Given the description of an element on the screen output the (x, y) to click on. 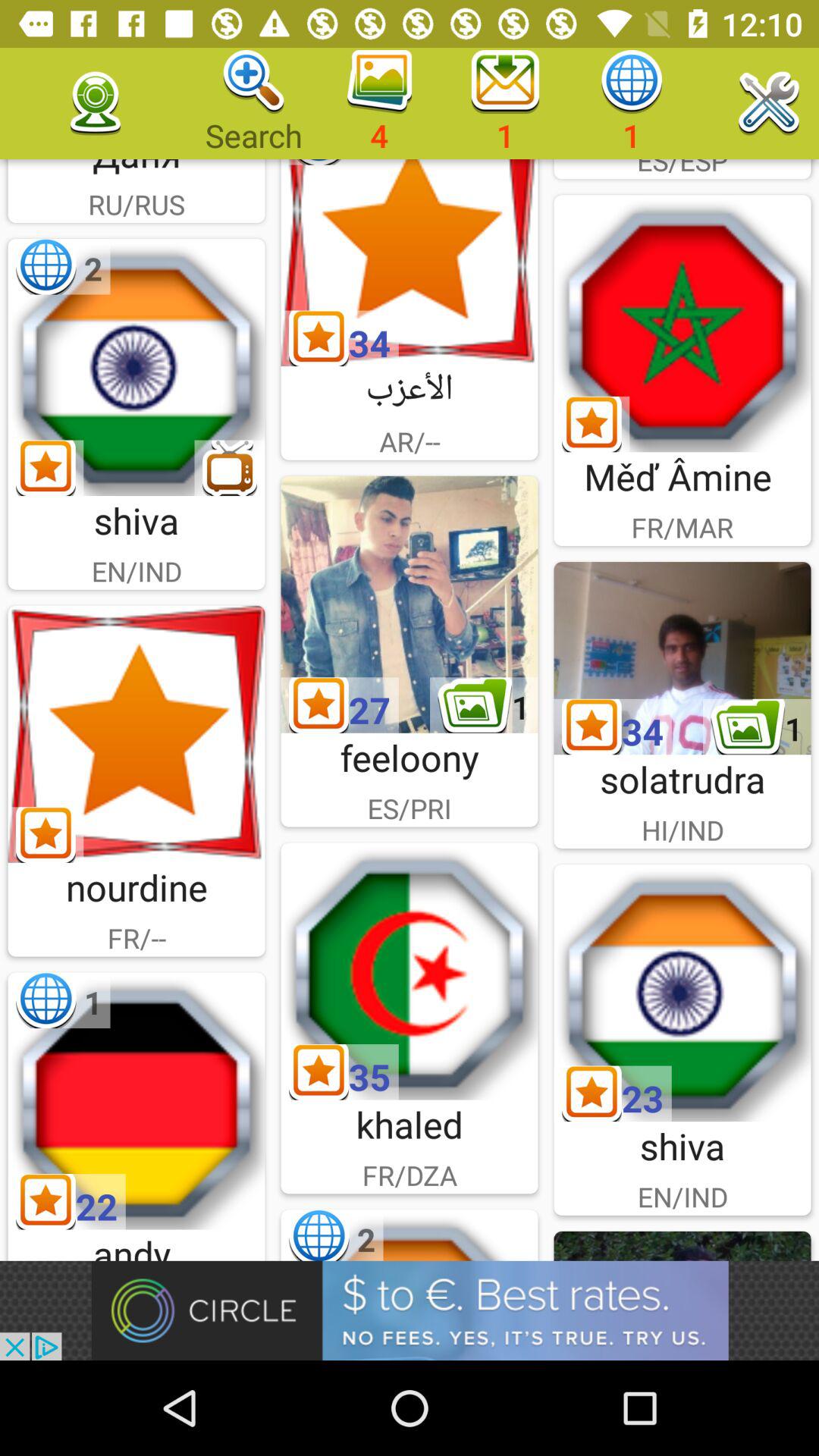
open advertisement (409, 1310)
